Given the description of an element on the screen output the (x, y) to click on. 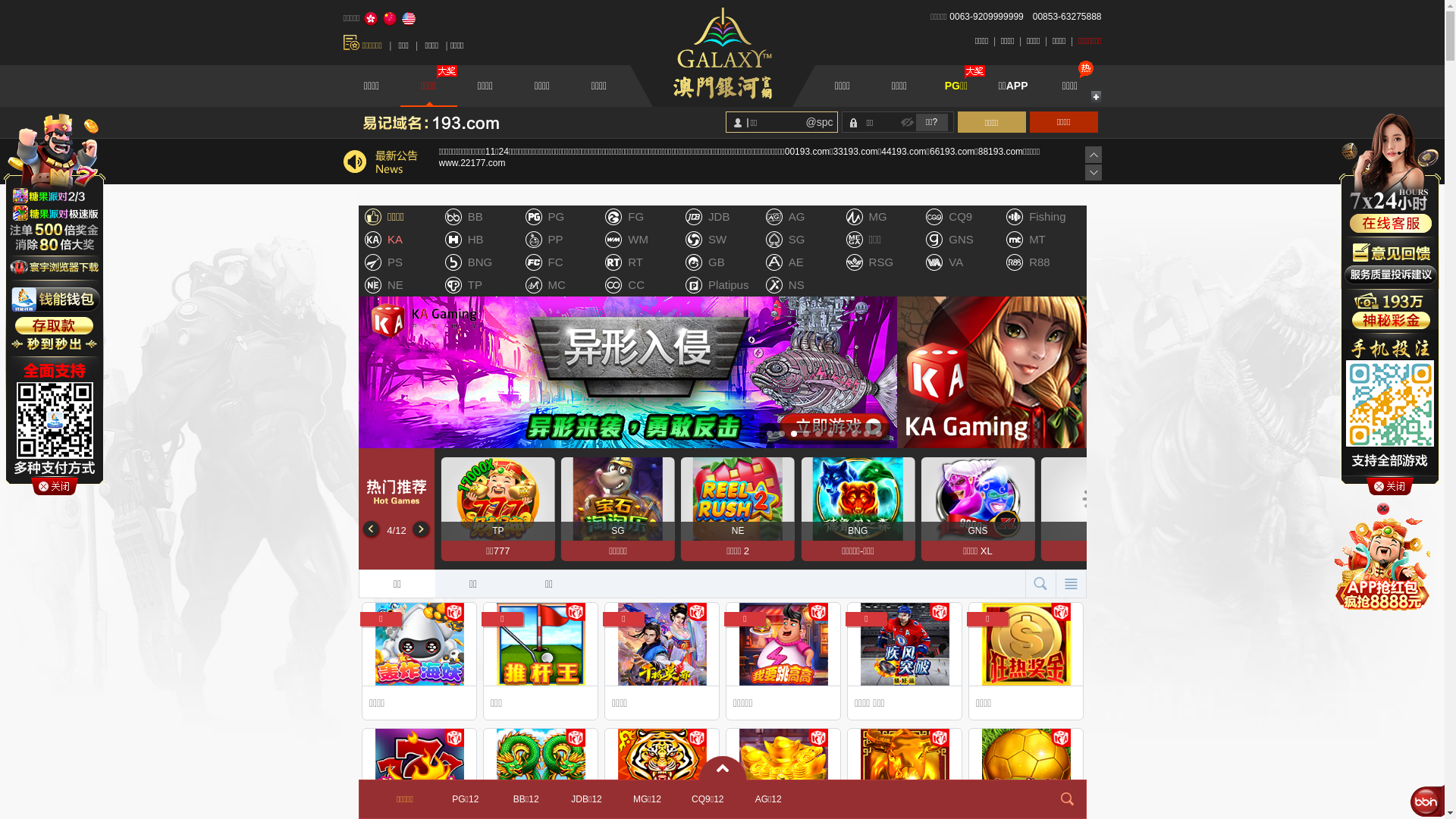
English Element type: hover (408, 18)
